Given the description of an element on the screen output the (x, y) to click on. 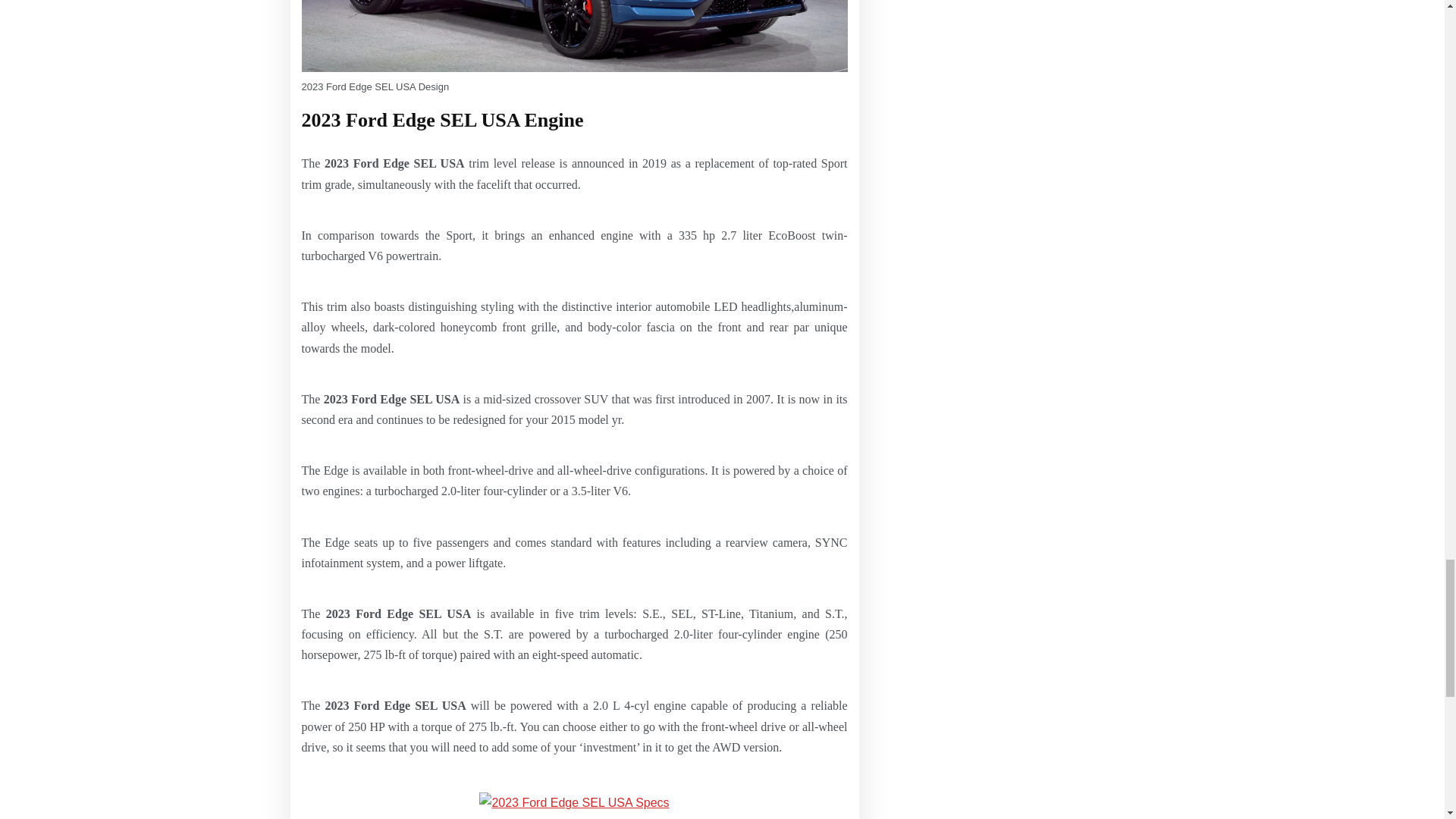
10 (574, 36)
14 (573, 802)
